Given the description of an element on the screen output the (x, y) to click on. 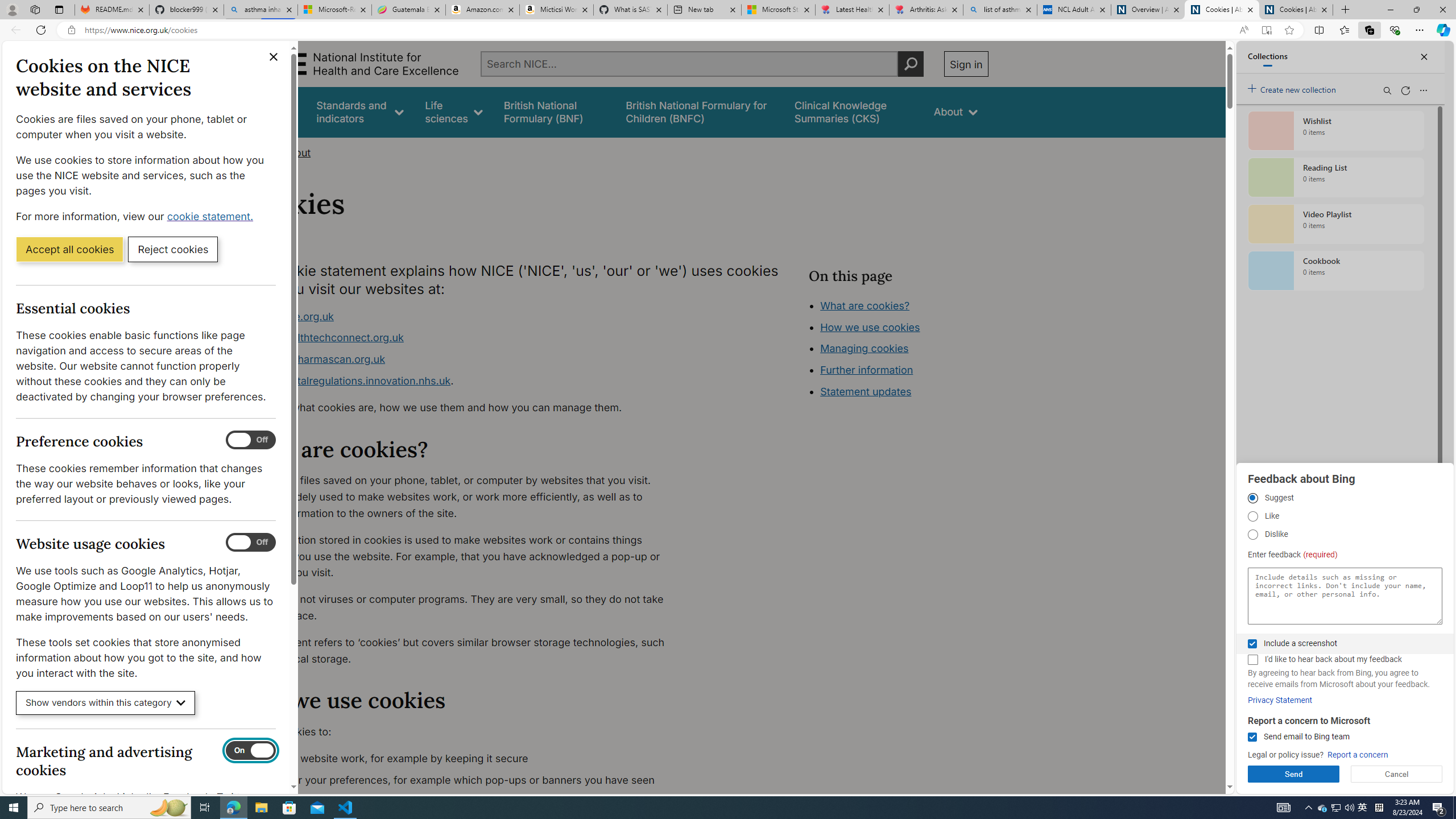
Suggest (1252, 498)
Send (1293, 773)
Website usage cookies (250, 542)
Perform search (909, 63)
